Given the description of an element on the screen output the (x, y) to click on. 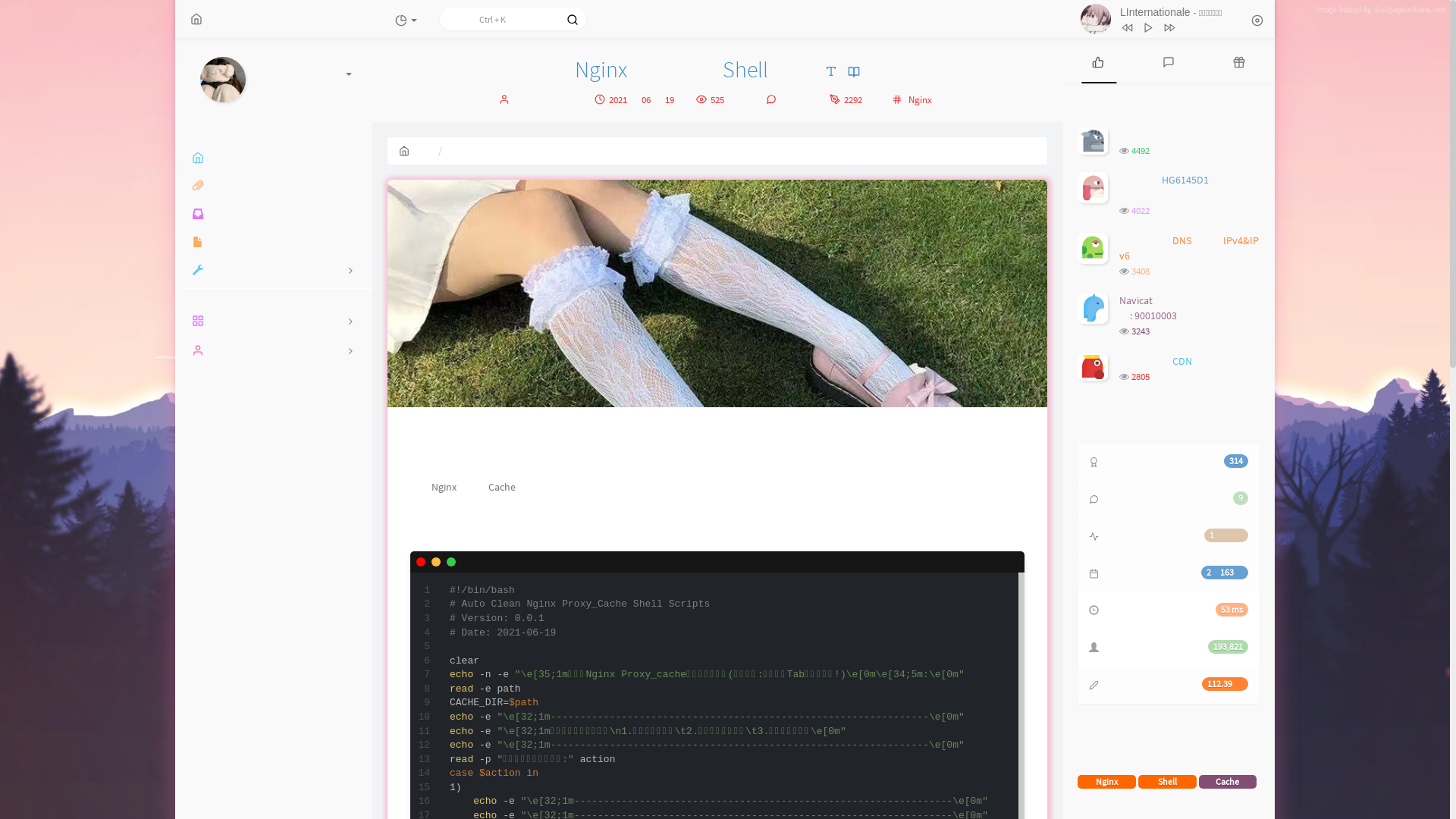
Cache Element type: text (1227, 781)
Shell Element type: text (1167, 781)
Nginx Element type: text (919, 99)
Nginx Element type: text (1106, 781)
